Given the description of an element on the screen output the (x, y) to click on. 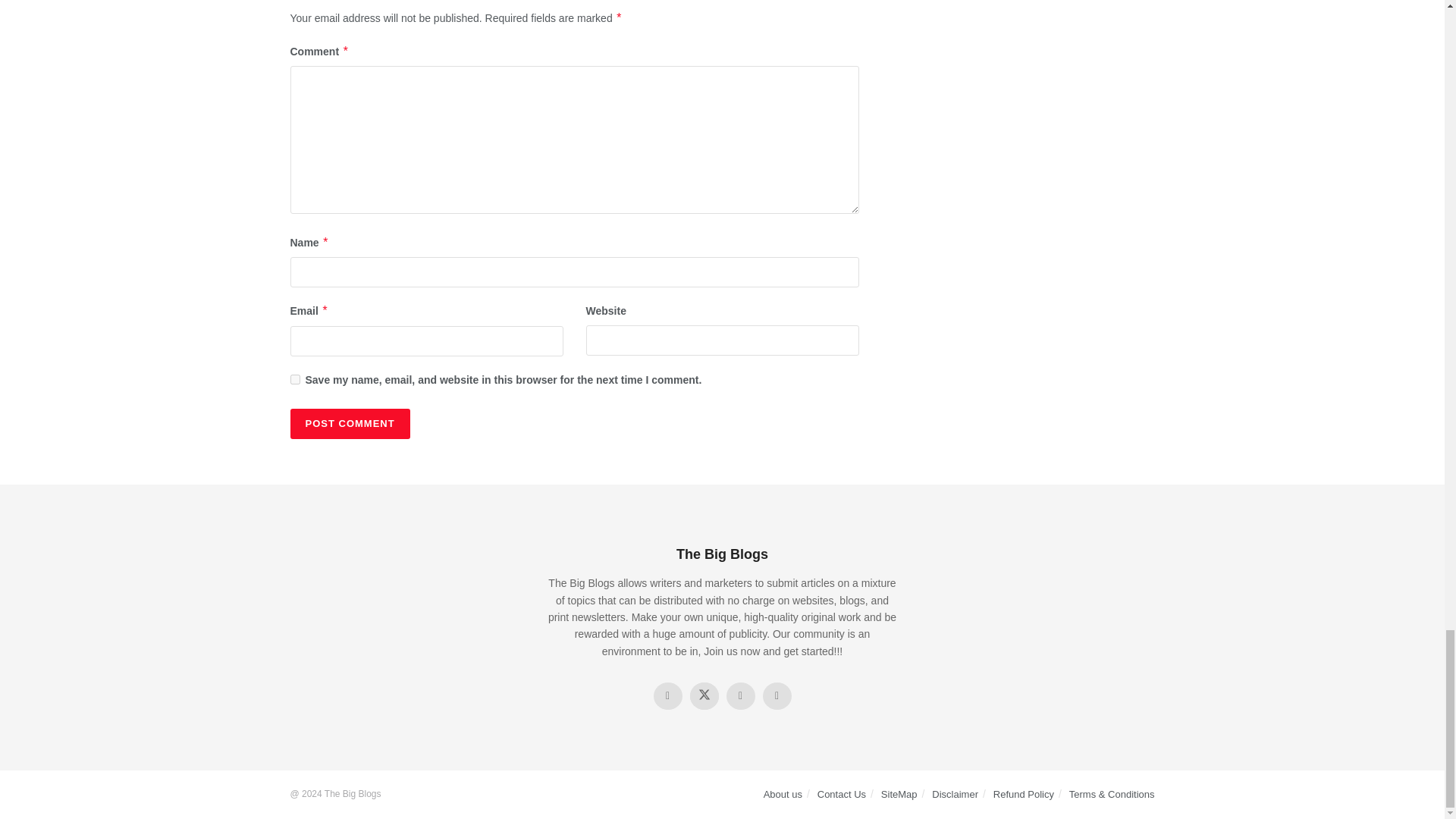
yes (294, 379)
Post Comment (349, 423)
